Given the description of an element on the screen output the (x, y) to click on. 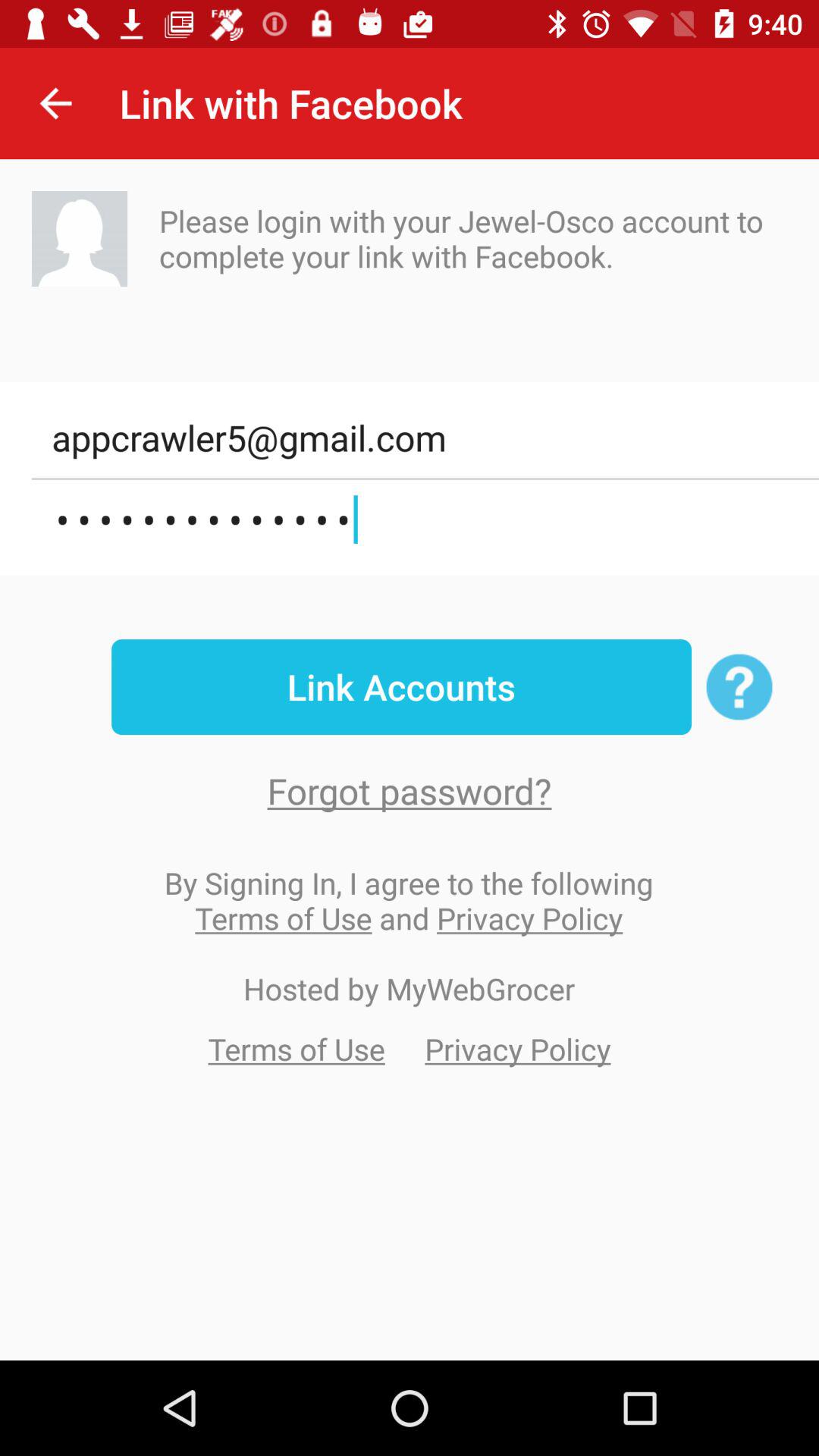
jump to appcrawler5@gmail.com icon (425, 437)
